Given the description of an element on the screen output the (x, y) to click on. 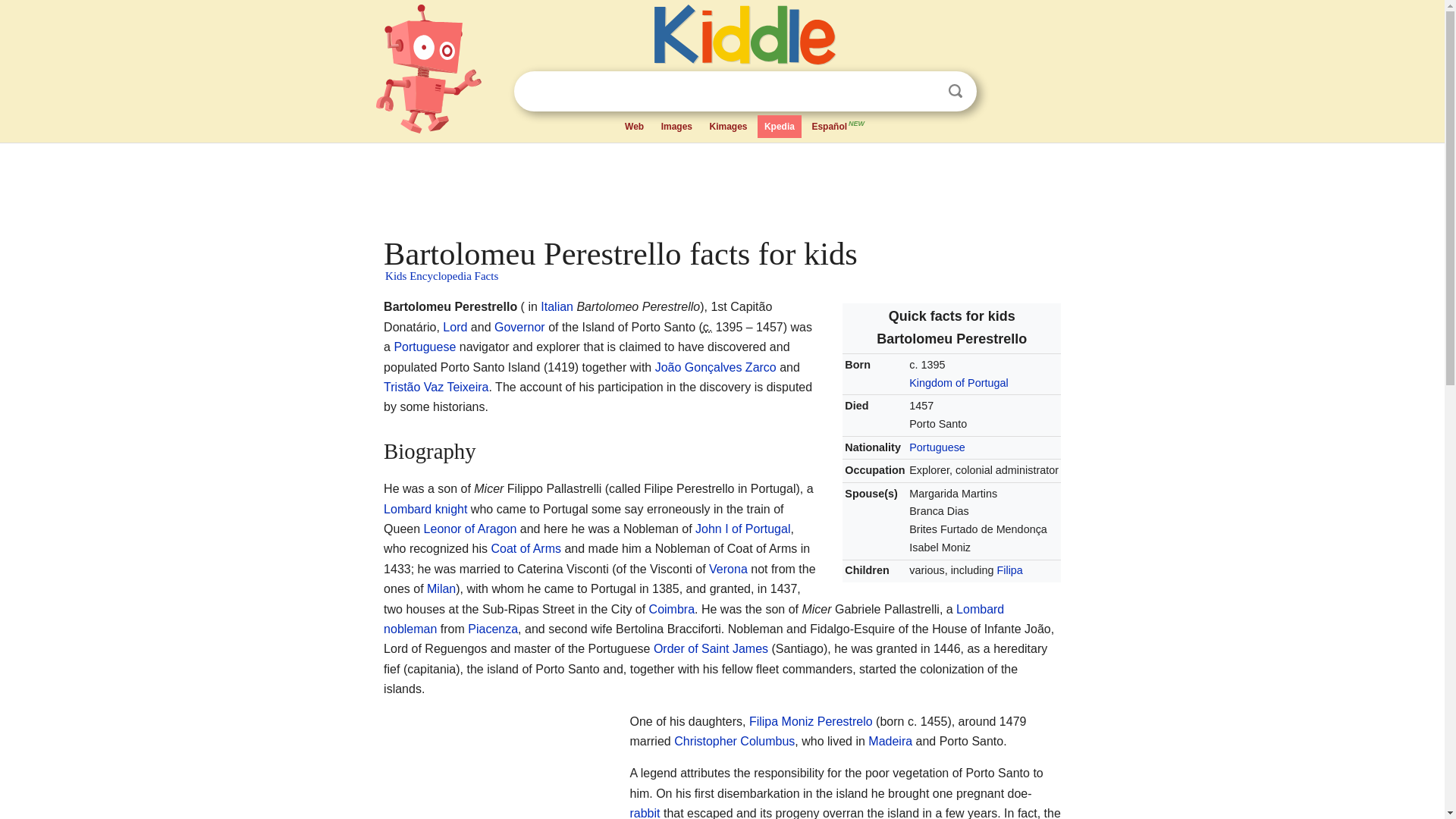
Coat of arms (526, 548)
Verona (728, 568)
Coimbra (671, 608)
rabbit (643, 812)
Madeira (889, 740)
John I of Portugal (742, 528)
Kingdom of Portugal (957, 382)
Governor (519, 327)
Christopher Columbus (734, 740)
knight (451, 508)
Portuguese (936, 447)
Advertisement (721, 185)
Coat of Arms (526, 548)
Leonor of Aragon (469, 528)
Lord (454, 327)
